Given the description of an element on the screen output the (x, y) to click on. 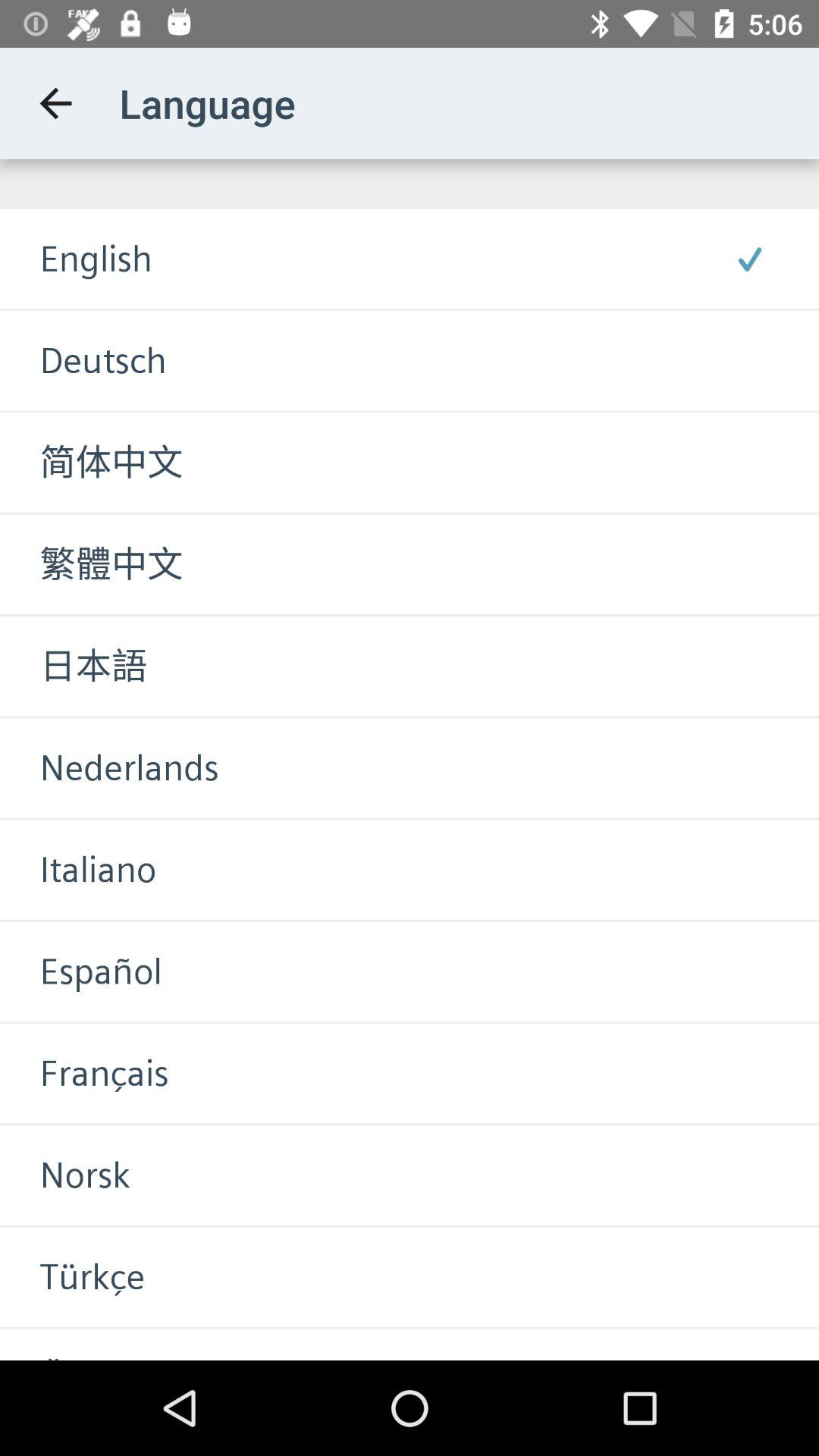
flip until the nederlands (109, 767)
